Given the description of an element on the screen output the (x, y) to click on. 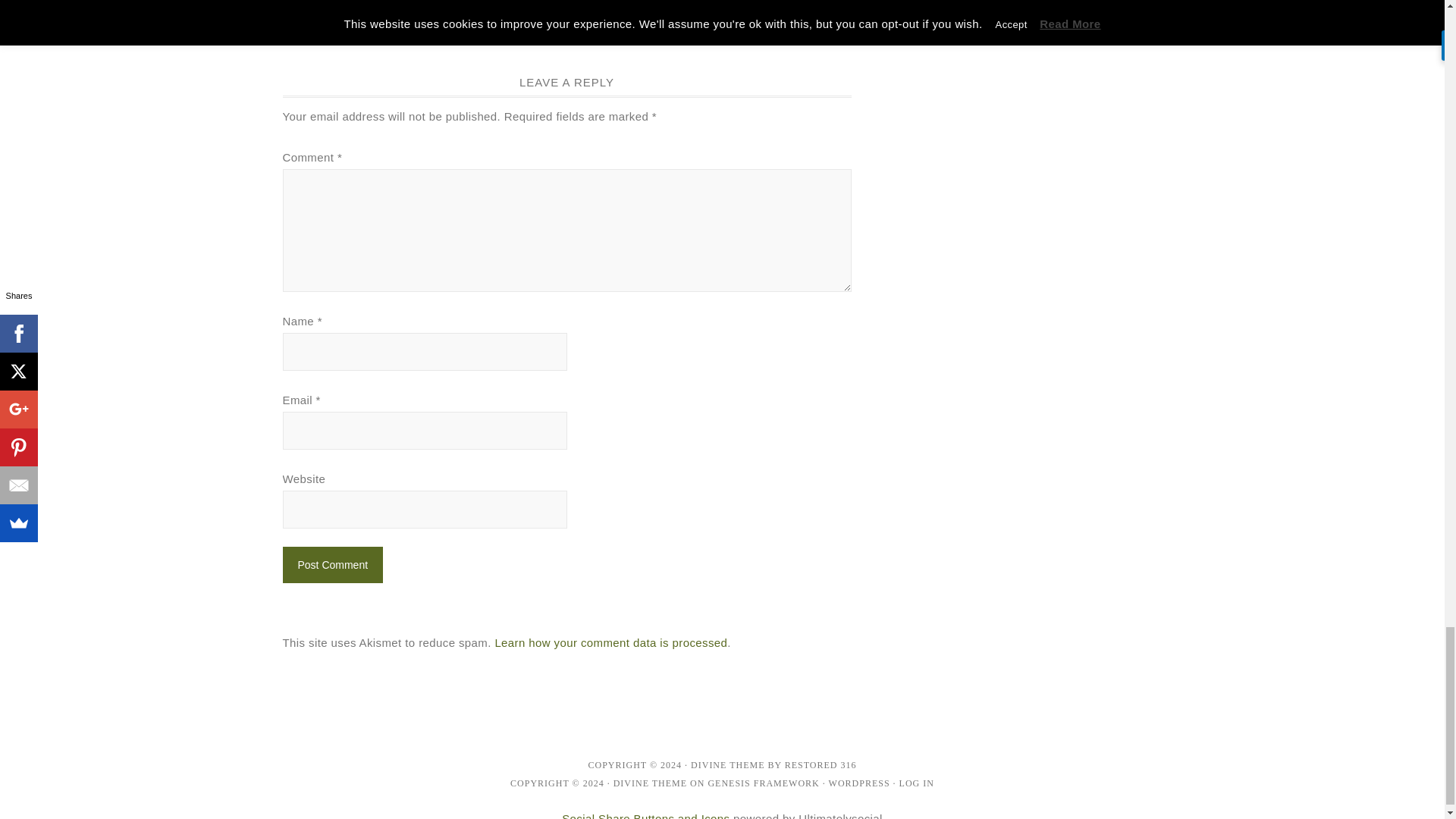
Post Comment (332, 565)
Post Comment (332, 565)
Learn how your comment data is processed (610, 642)
